Given the description of an element on the screen output the (x, y) to click on. 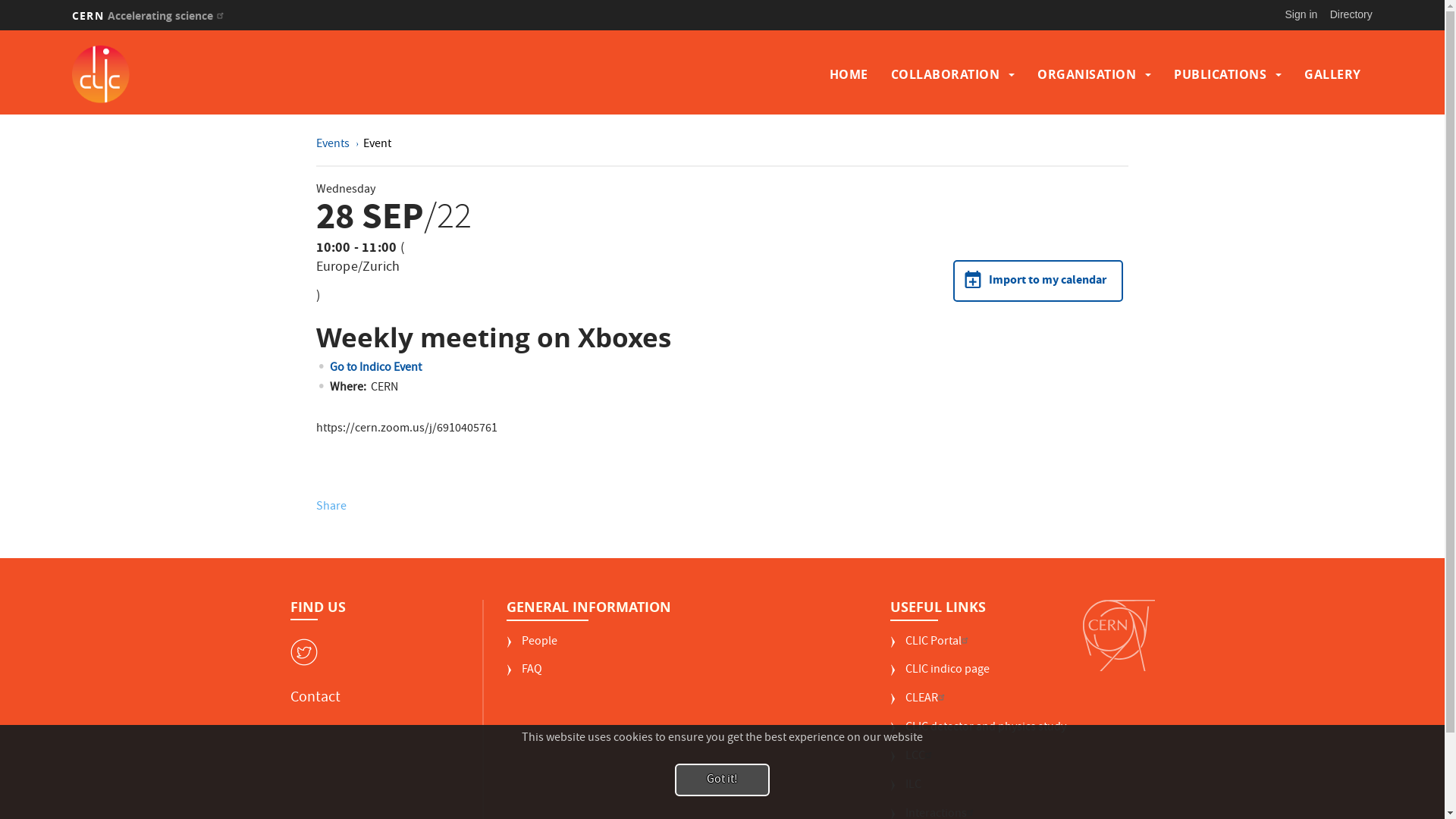
ILC Element type: text (905, 791)
HOME Element type: text (848, 74)
CLIC indico page Element type: text (939, 676)
Events Element type: text (333, 144)
PUBLICATIONS Element type: text (1219, 74)
GALLERY Element type: text (1332, 74)
Skip to main content Element type: text (0, 30)
Directory Element type: text (1351, 14)
FAQ Element type: text (524, 676)
Contact Element type: text (314, 698)
CLEAR(link is external) Element type: text (919, 704)
CLIC detector and physics study Element type: text (978, 733)
Event Element type: text (377, 144)
People Element type: text (531, 647)
Import to my calendar Element type: text (1037, 280)
CLIC Portal(link is external) Element type: text (931, 647)
Sign in Element type: text (1301, 14)
Got it! Element type: text (721, 779)
LCC(link is external) Element type: text (912, 762)
Home Element type: hover (230, 74)
CERN Element type: hover (1118, 635)
CERN Accelerating science (link is external) Element type: text (149, 14)
Go to Indico Event Element type: text (375, 368)
W Element type: text (302, 652)
COLLABORATION Element type: text (945, 74)
ORGANISATION Element type: text (1086, 74)
